Given the description of an element on the screen output the (x, y) to click on. 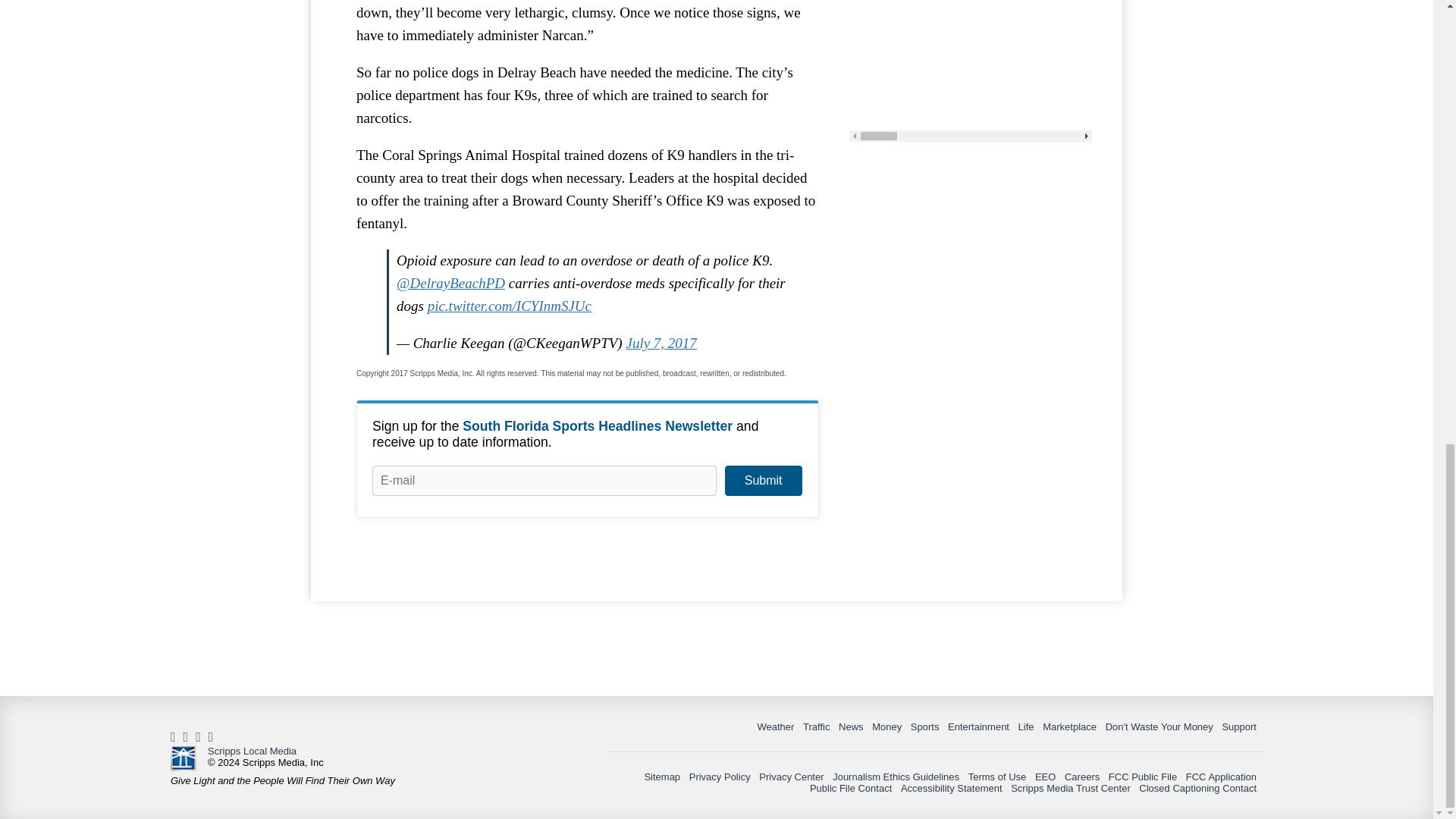
Submit (763, 481)
